Given the description of an element on the screen output the (x, y) to click on. 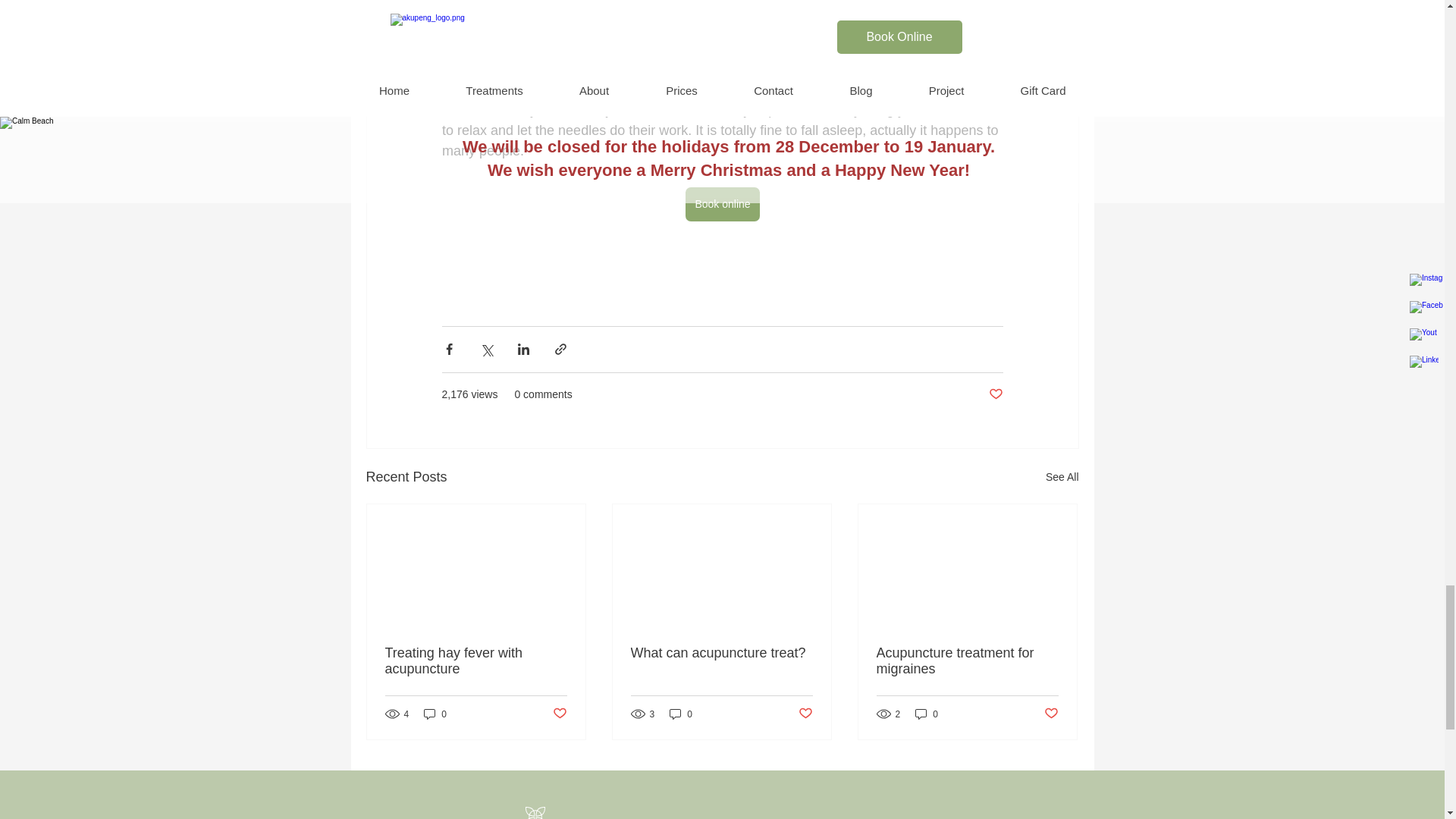
Post not marked as liked (558, 713)
Treating hay fever with acupuncture (476, 661)
Book online (721, 204)
0 (435, 713)
Tuina massage (743, 48)
See All (1061, 477)
Post not marked as liked (995, 394)
